Given the description of an element on the screen output the (x, y) to click on. 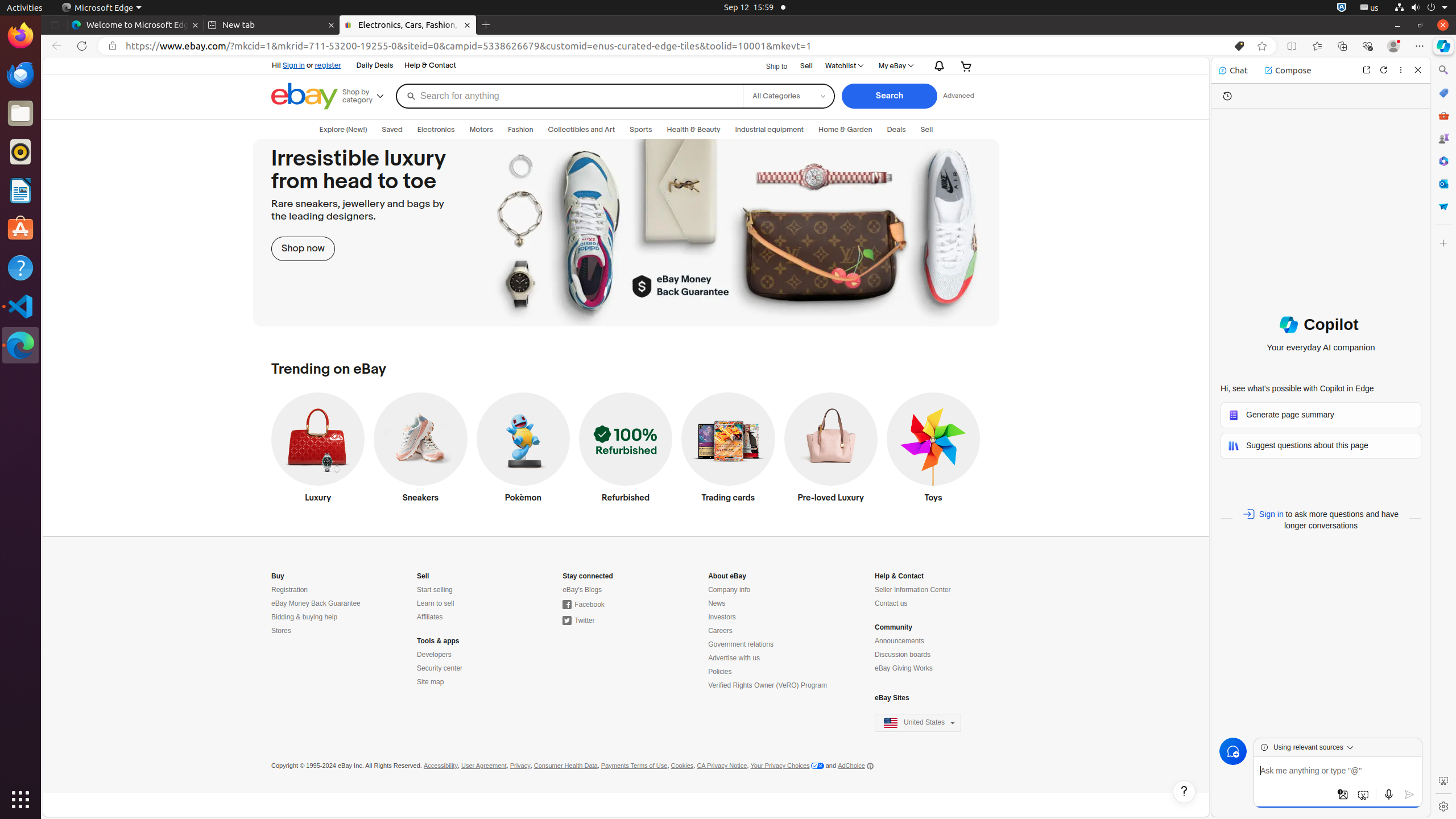
Notifications Element type: push-button (936, 65)
Profile 1 Profile, Please sign in Element type: push-button (1392, 46)
Privacy Element type: link (519, 765)
Split screen Element type: push-button (1291, 45)
Consumer Health Data Element type: link (565, 765)
